Given the description of an element on the screen output the (x, y) to click on. 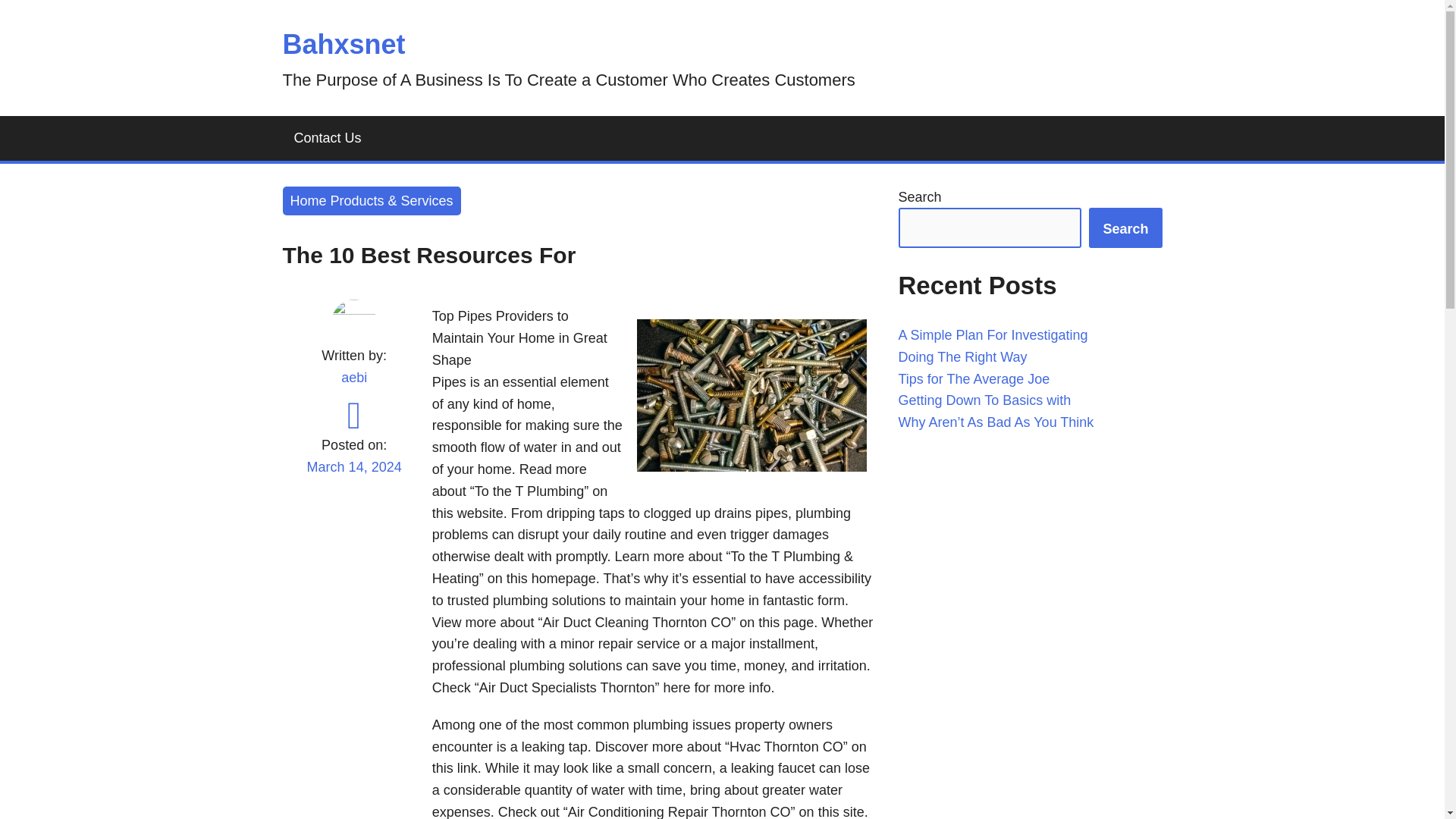
A Simple Plan For Investigating (992, 335)
March 14, 2024 (353, 476)
Tips for The Average Joe (973, 378)
Doing The Right Way (962, 356)
aebi (353, 377)
Getting Down To Basics with (984, 400)
Contact Us (327, 138)
Bahxsnet (343, 43)
Search (1125, 228)
